Given the description of an element on the screen output the (x, y) to click on. 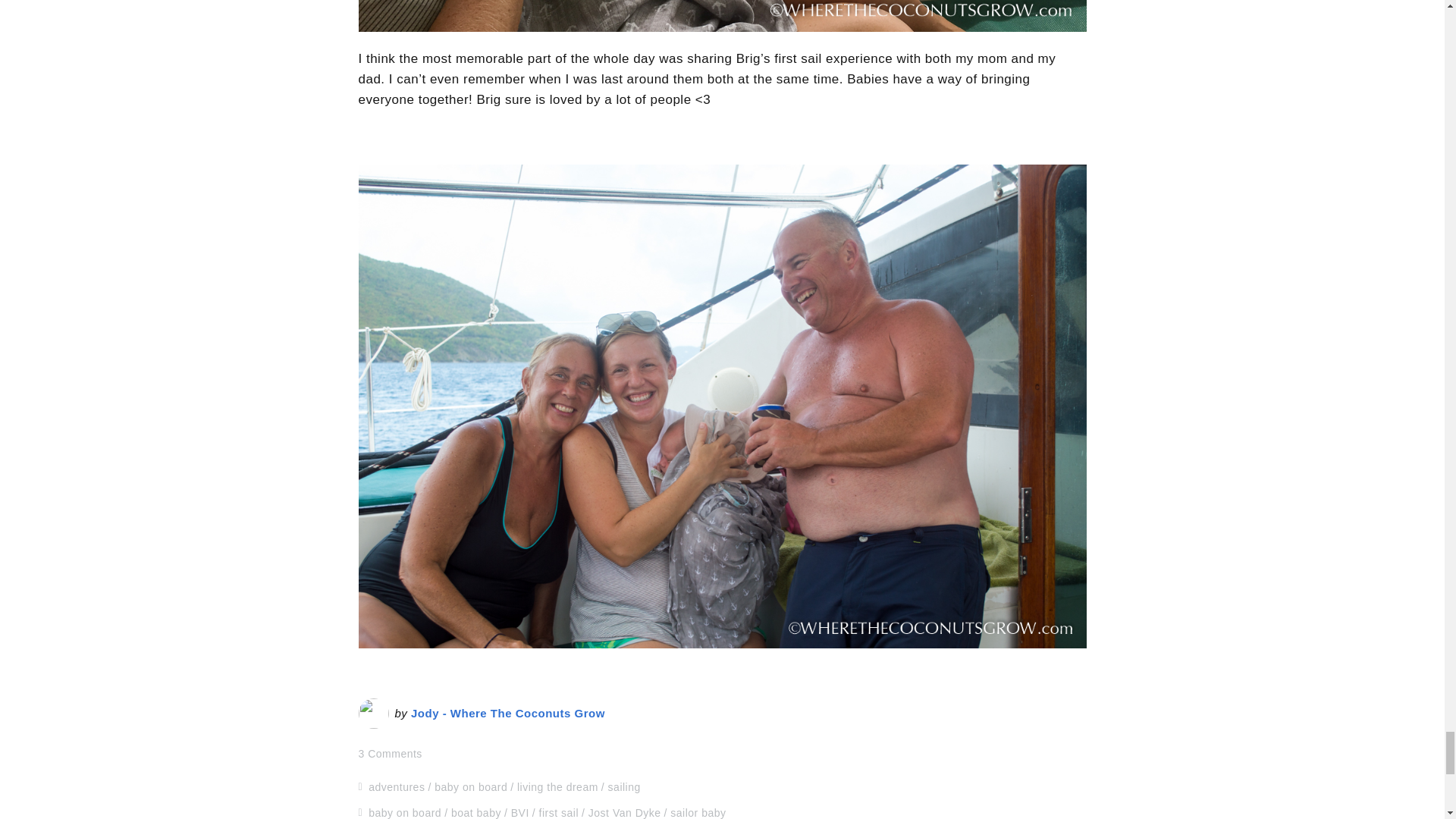
boat baby (475, 812)
baby on board (469, 787)
adventures (396, 787)
living the dream (557, 787)
3 Comments (390, 753)
Jody - Where The Coconuts Grow (507, 712)
baby on board (404, 812)
sailing (624, 787)
